Given the description of an element on the screen output the (x, y) to click on. 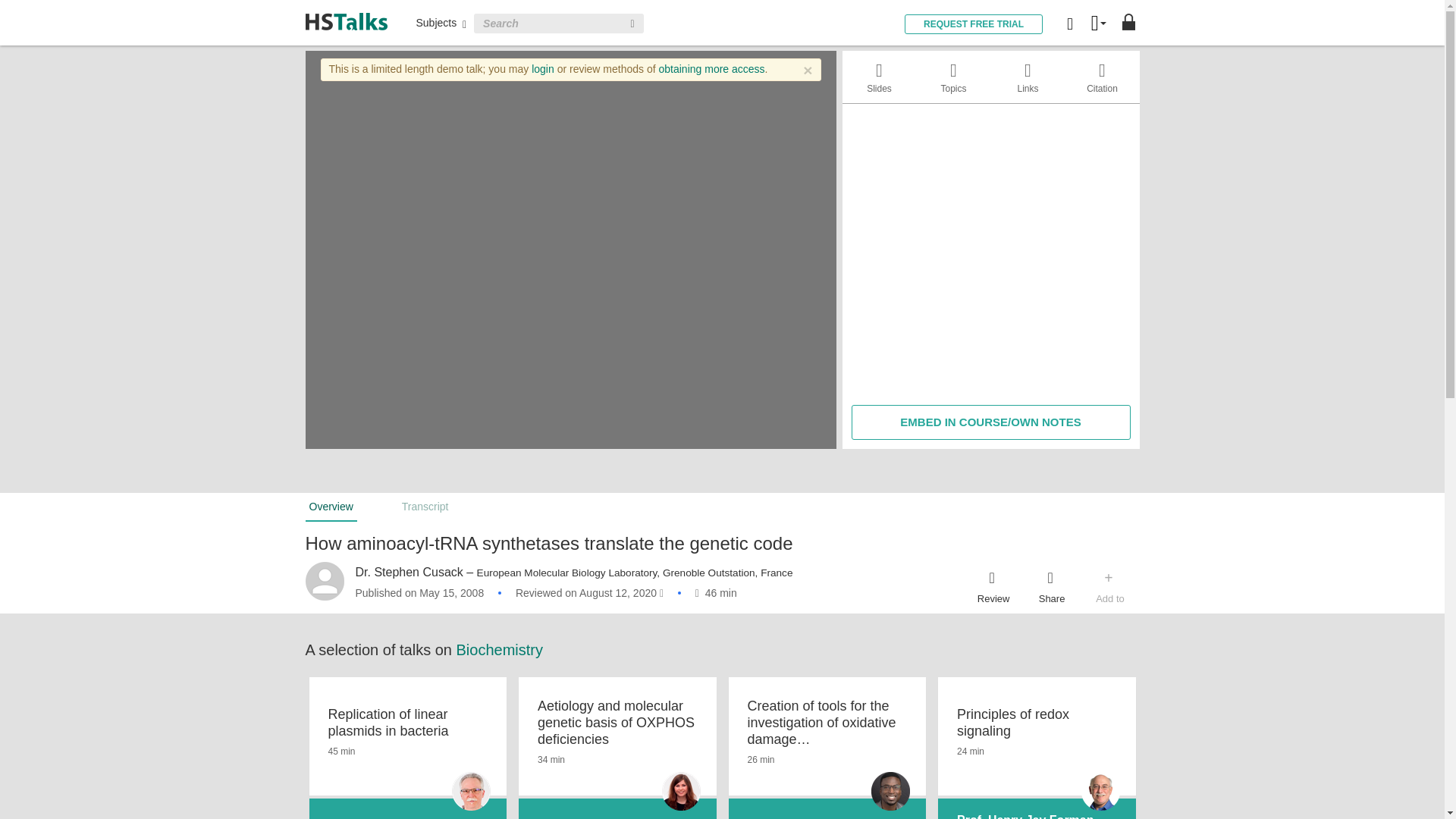
Subjects   (439, 22)
REQUEST FREE TRIAL (973, 24)
Search (632, 23)
User (1098, 23)
